Given the description of an element on the screen output the (x, y) to click on. 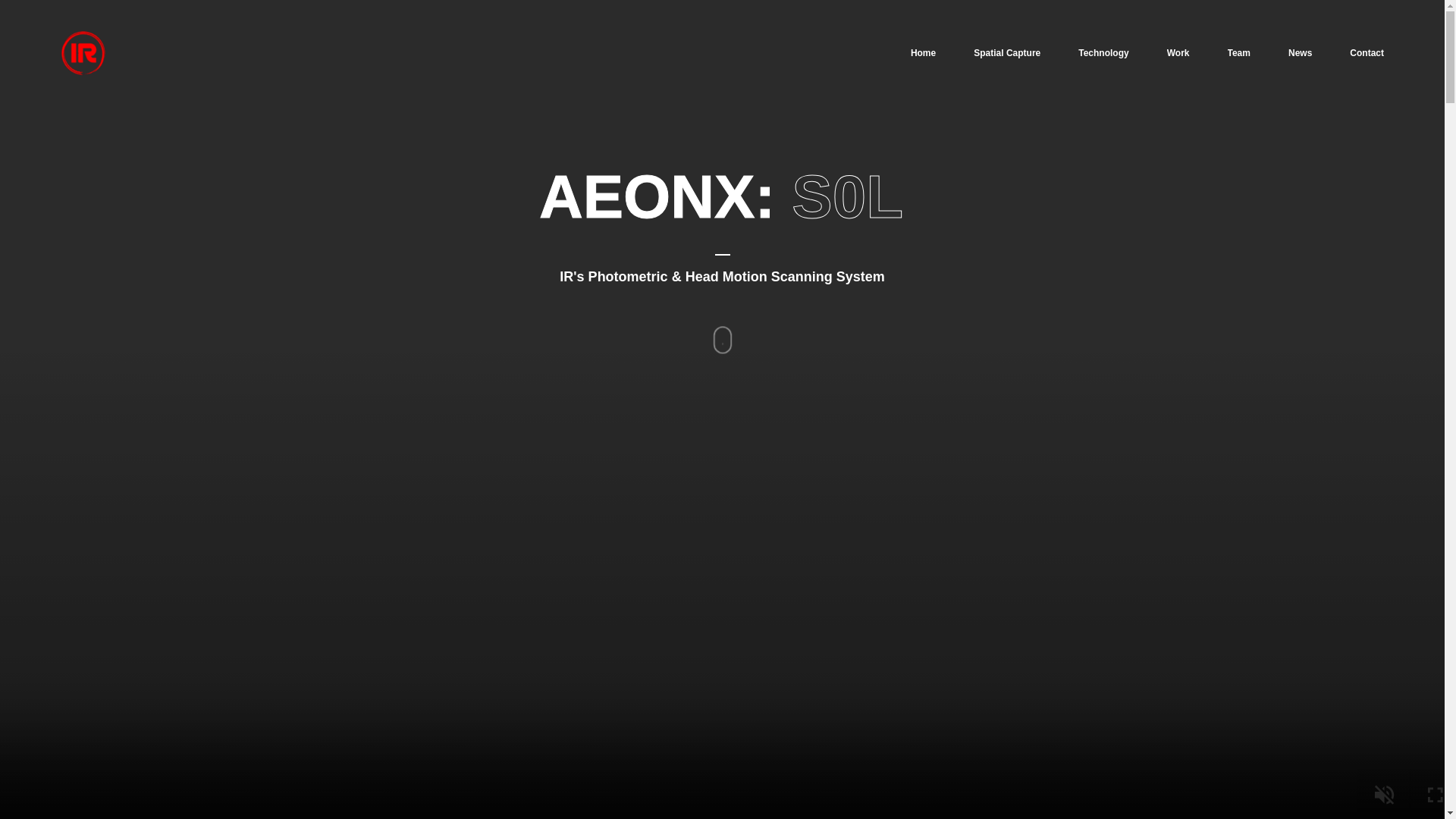
News (1299, 50)
Technology (1103, 50)
Spatial Capture (1007, 50)
Home (923, 50)
Contact (1366, 50)
